Given the description of an element on the screen output the (x, y) to click on. 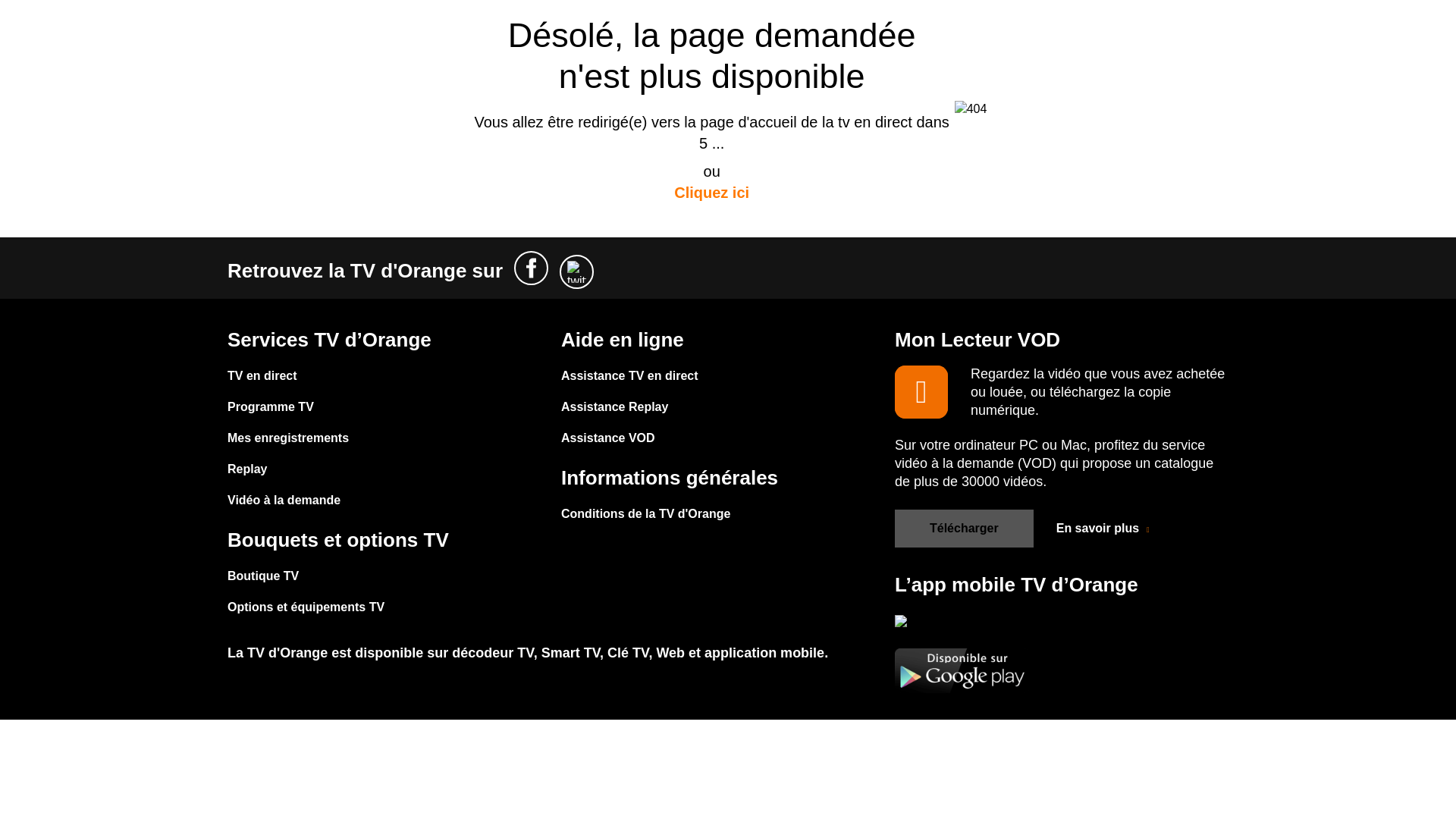
twitter (576, 271)
Assistance VOD (629, 435)
Conditions de la TV d'Orange (645, 511)
En savoir plus (1105, 529)
Programme TV (288, 404)
Cliquez ici (711, 191)
Assistance Replay (629, 404)
Replay (288, 466)
Mes enregistrements (288, 435)
TV en direct (288, 373)
facebook (531, 267)
Assistance TV en direct (629, 373)
Boutique TV (305, 573)
